Given the description of an element on the screen output the (x, y) to click on. 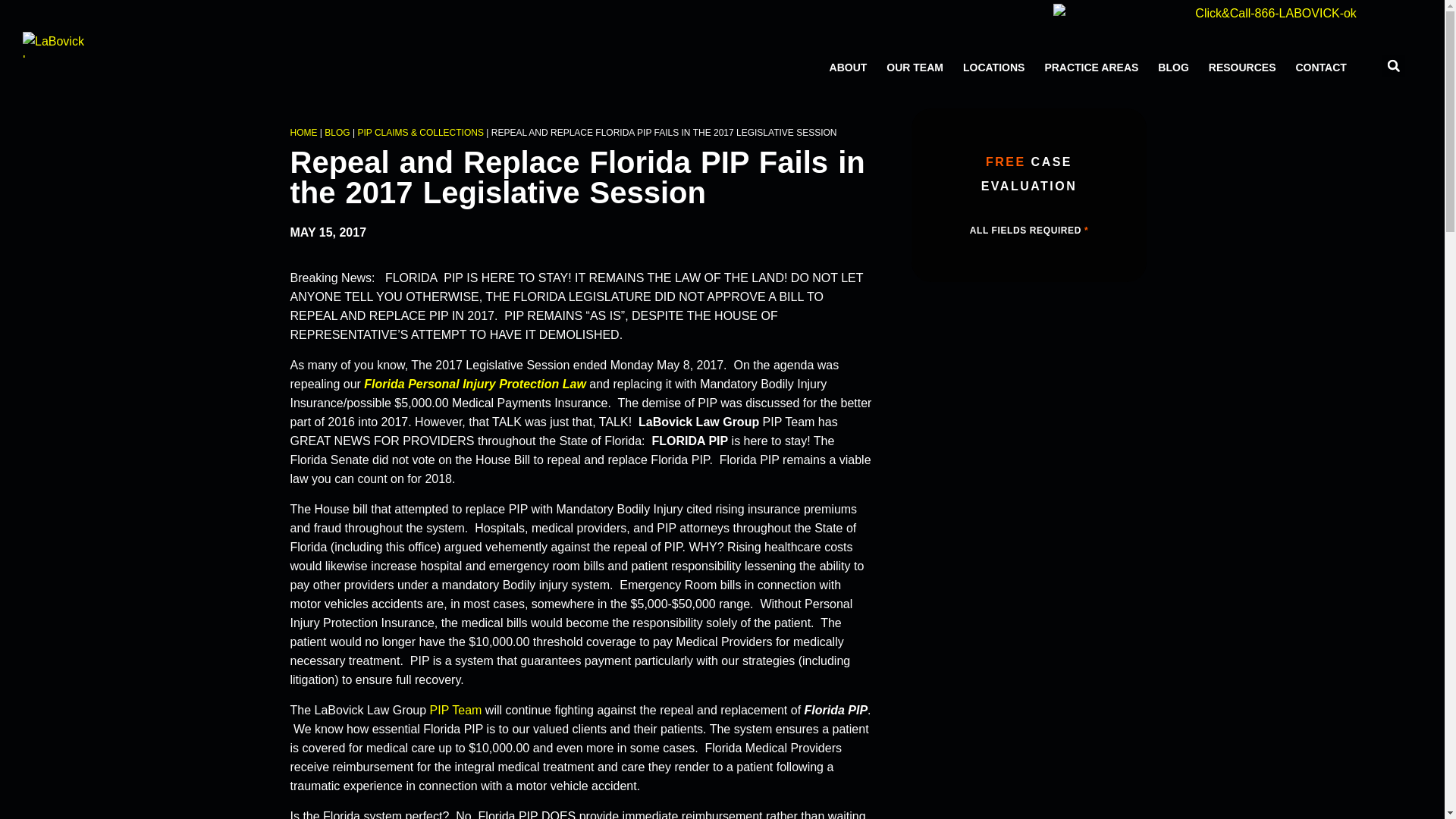
LOCATIONS (993, 67)
ABOUT (848, 67)
OUR TEAM (914, 67)
